Given the description of an element on the screen output the (x, y) to click on. 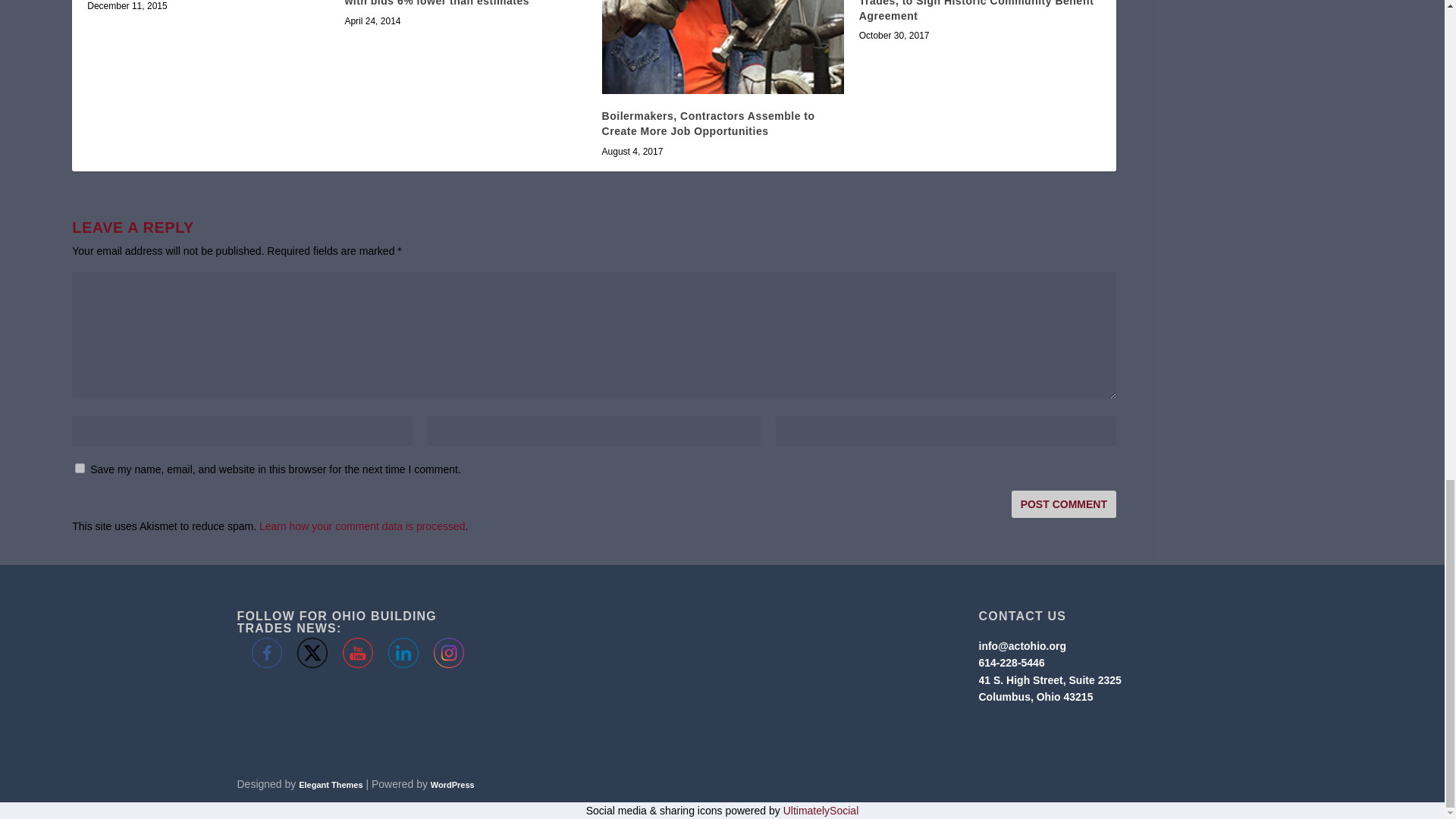
yes (79, 468)
Post Comment (1063, 503)
